Given the description of an element on the screen output the (x, y) to click on. 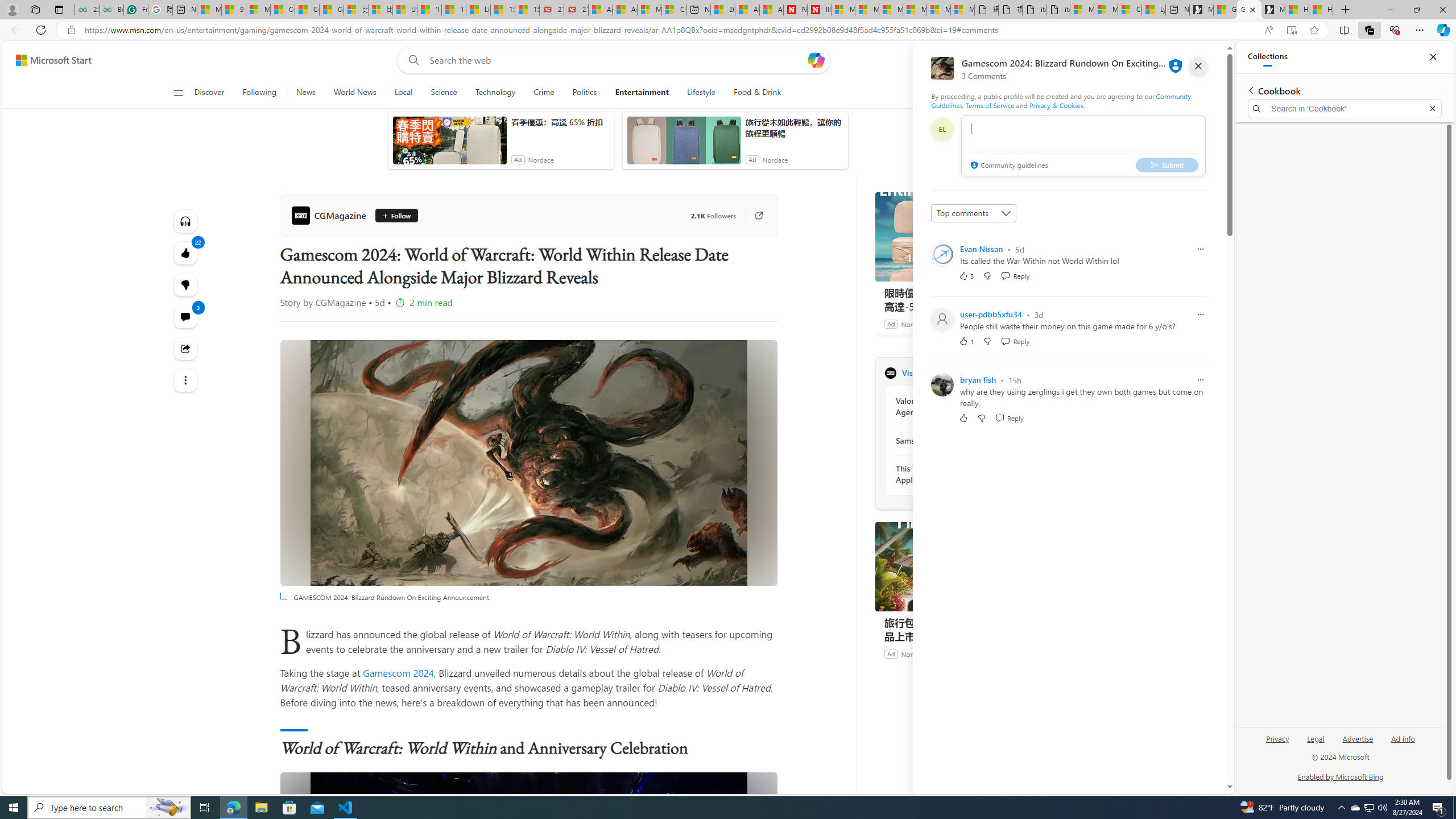
bryan fish (977, 379)
Class: at-item (184, 380)
1 Like (965, 341)
